Given the description of an element on the screen output the (x, y) to click on. 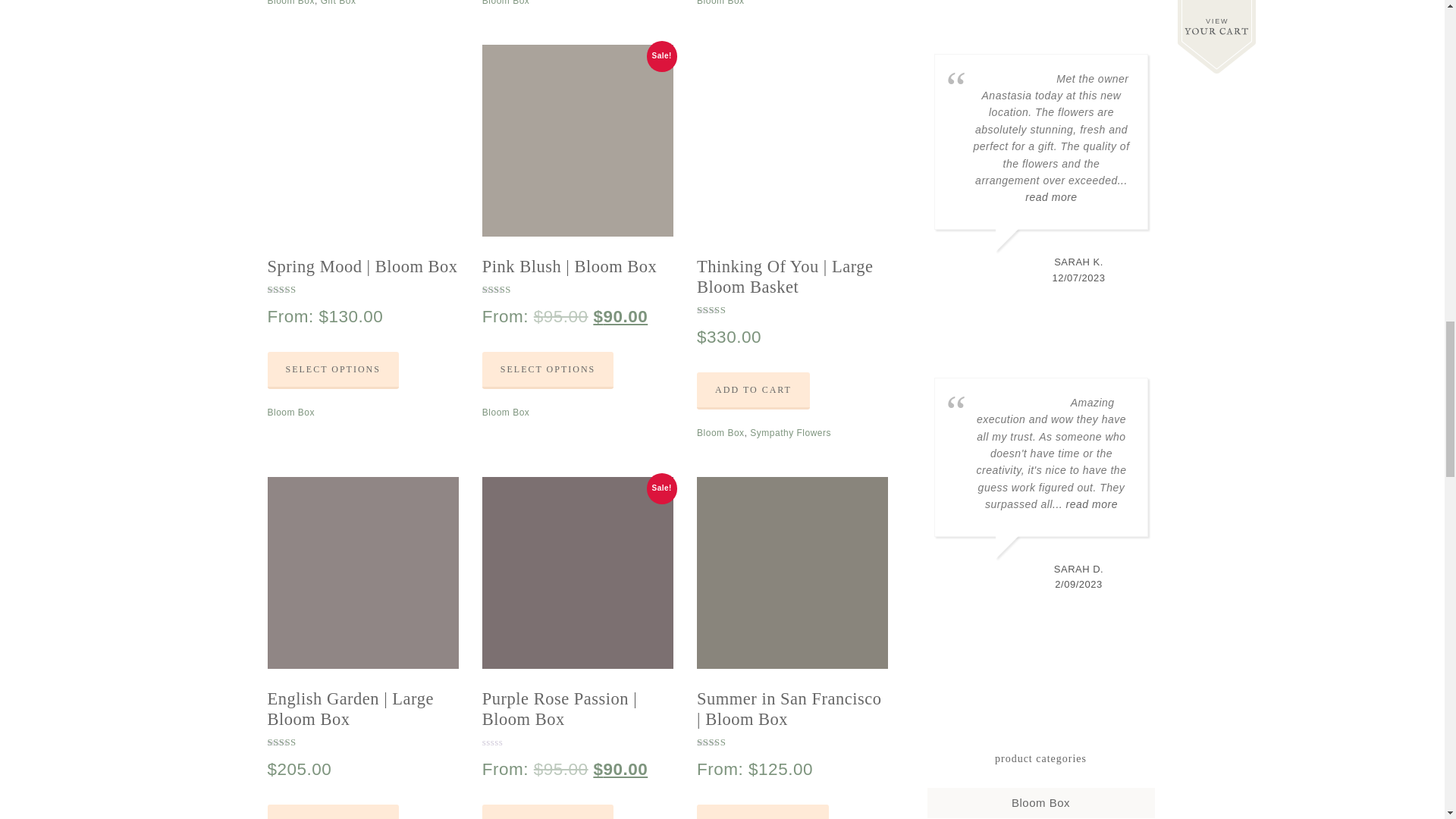
Gift Box (338, 2)
Bloom Box (290, 2)
